Given the description of an element on the screen output the (x, y) to click on. 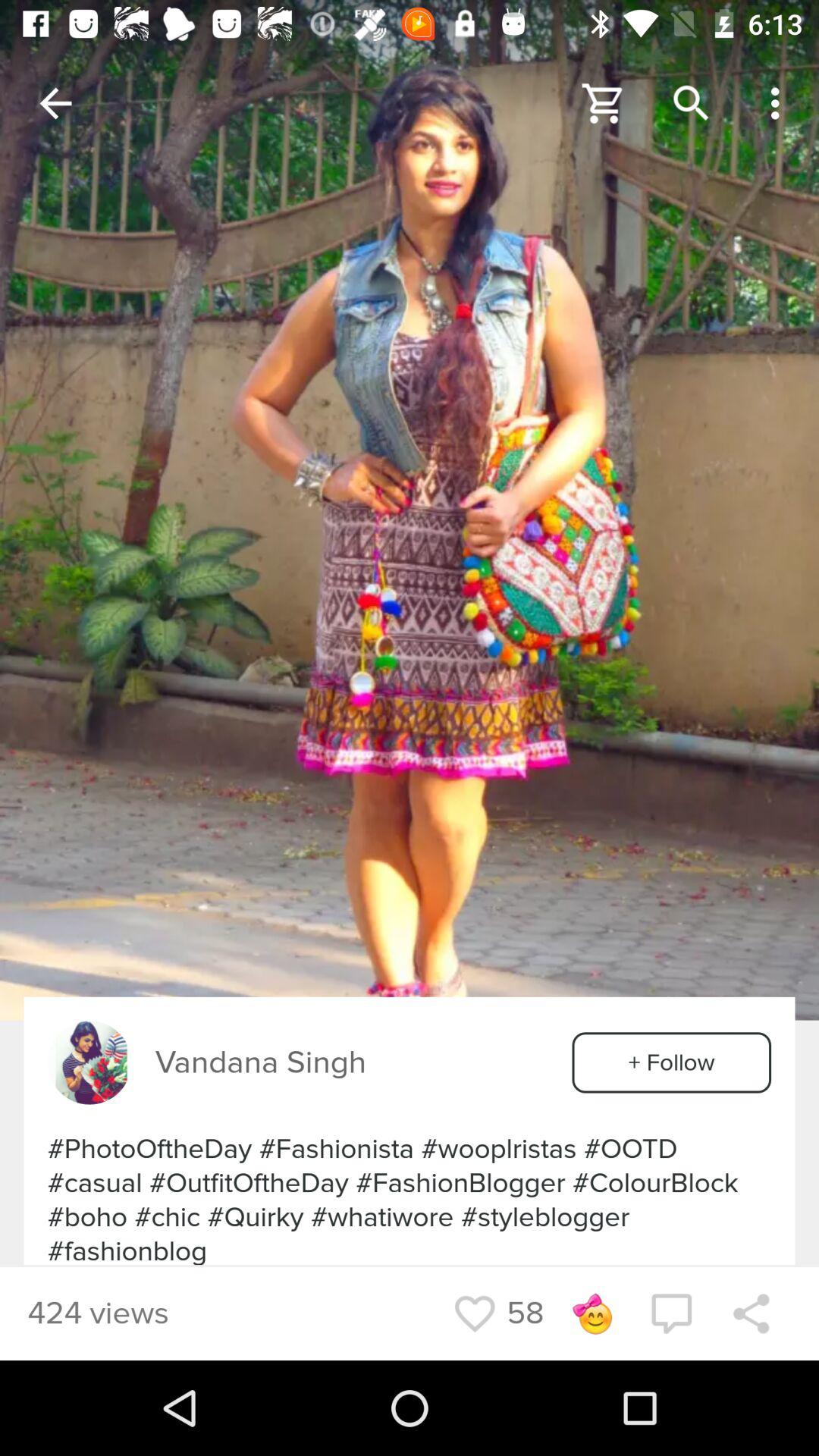
message option (671, 1313)
